Given the description of an element on the screen output the (x, y) to click on. 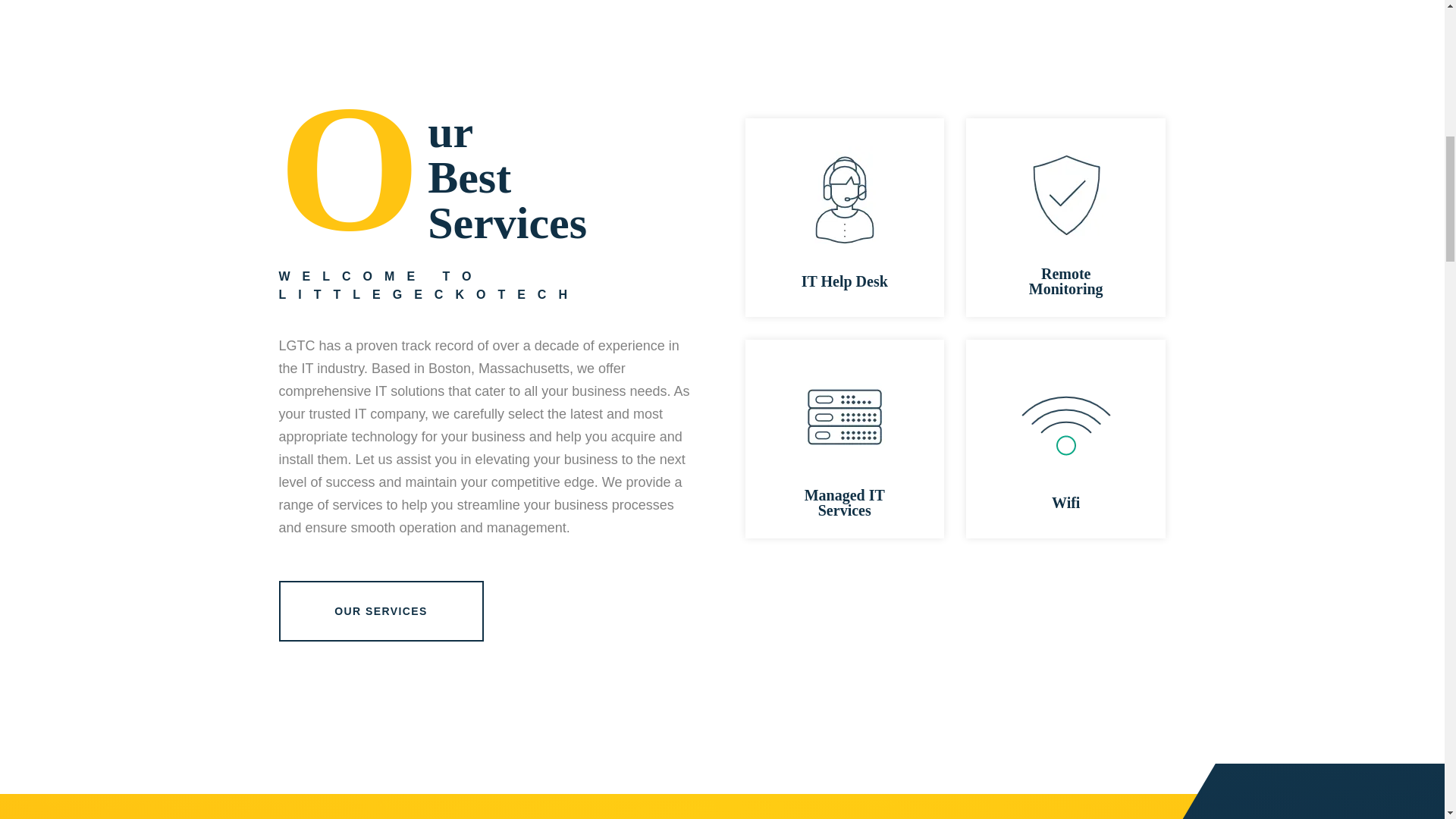
OUR SERVICES (381, 610)
Read more (843, 438)
Read more (843, 217)
Read more (1066, 217)
IT Help Desk (845, 280)
Managed IT Services (845, 502)
Remote Monitoring (1066, 281)
Wifi (1065, 502)
Read more (1066, 438)
